Given the description of an element on the screen output the (x, y) to click on. 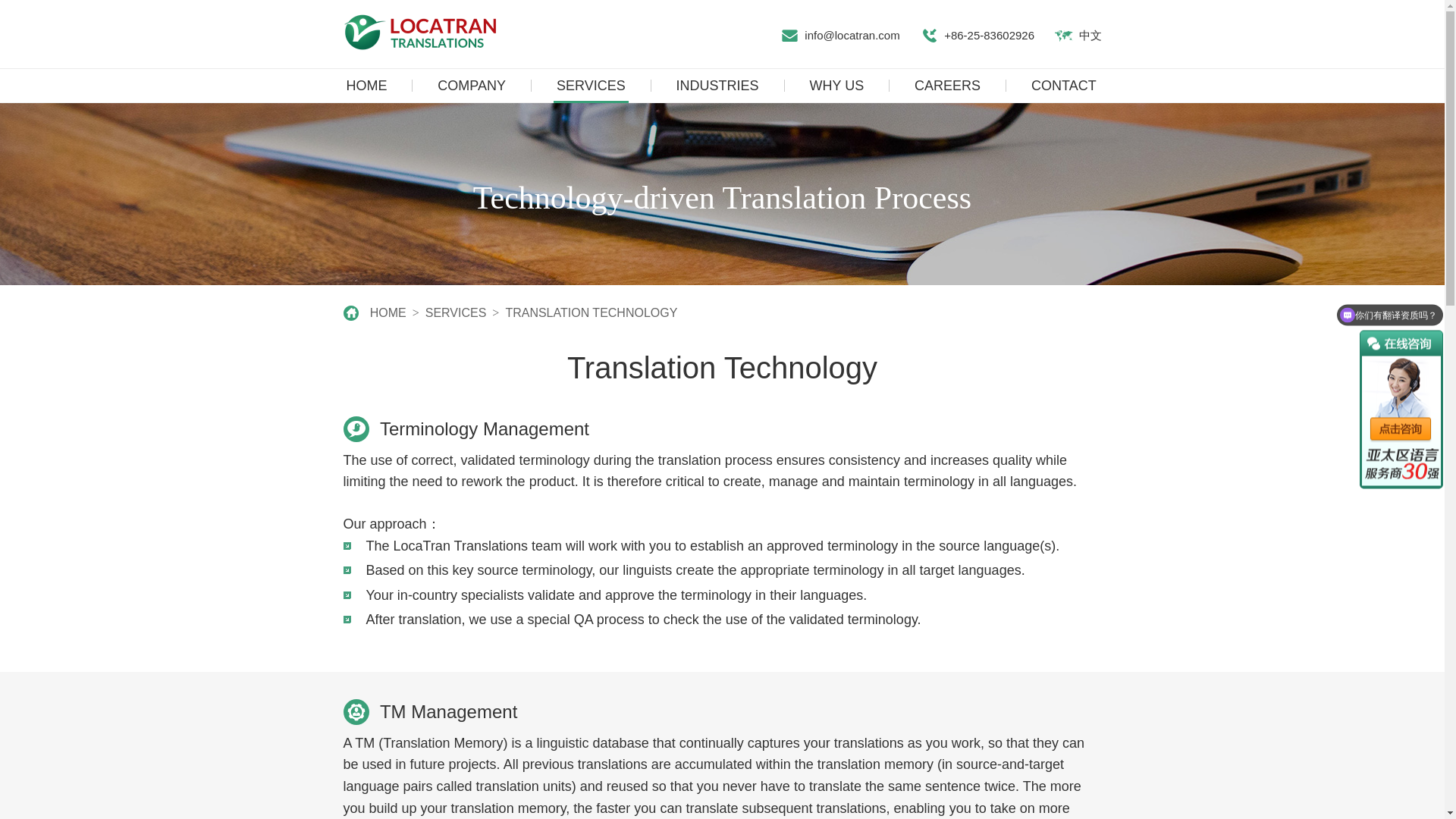
HOME (387, 312)
COMPANY (470, 85)
SERVICES (590, 85)
HOME (366, 85)
WHY US (836, 85)
CONTACT (1063, 85)
CAREERS (947, 85)
INDUSTRIES (716, 85)
SERVICES (455, 312)
